Given the description of an element on the screen output the (x, y) to click on. 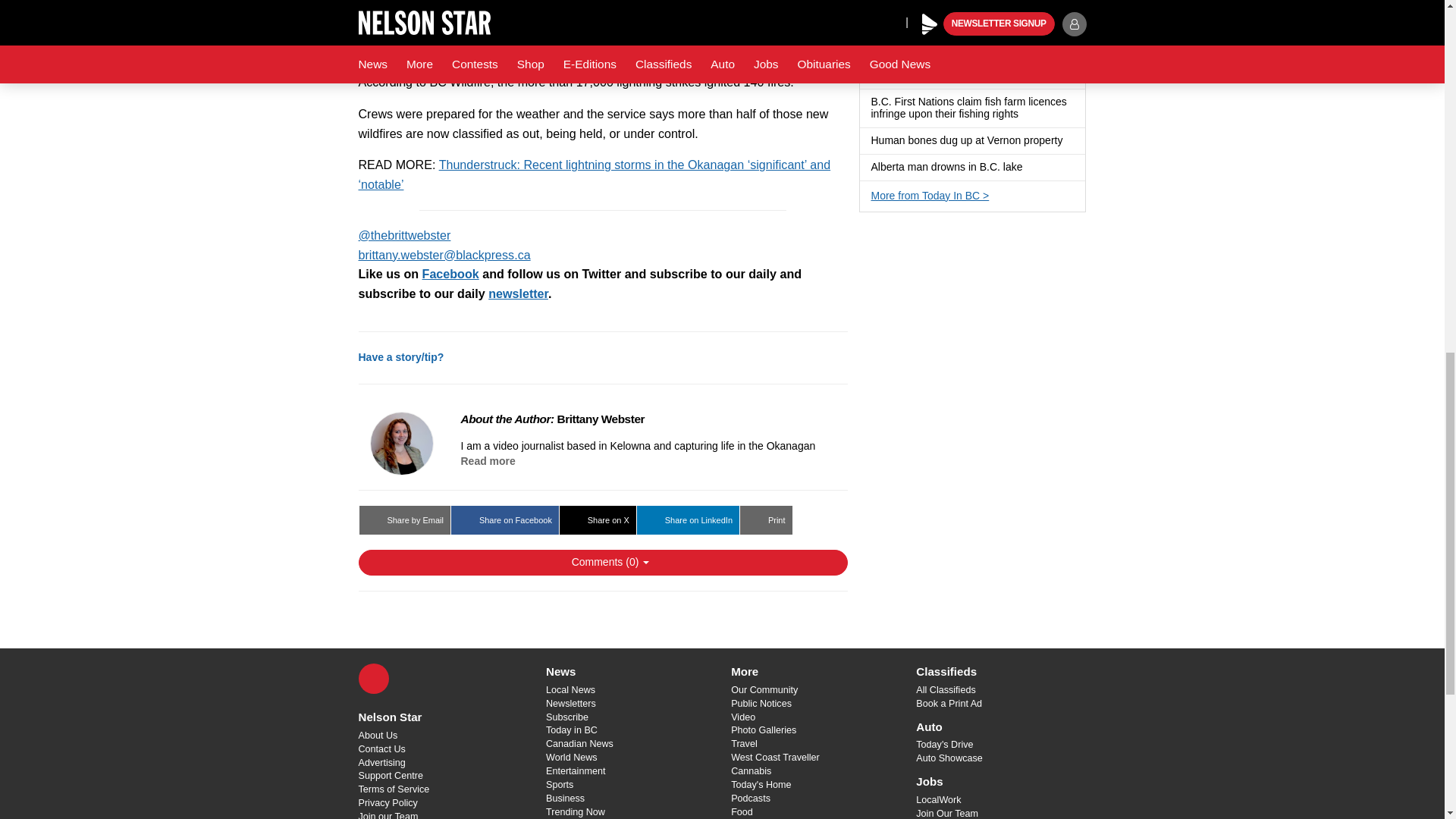
Show Comments (602, 562)
Has a gallery (957, 36)
X (373, 678)
